Given the description of an element on the screen output the (x, y) to click on. 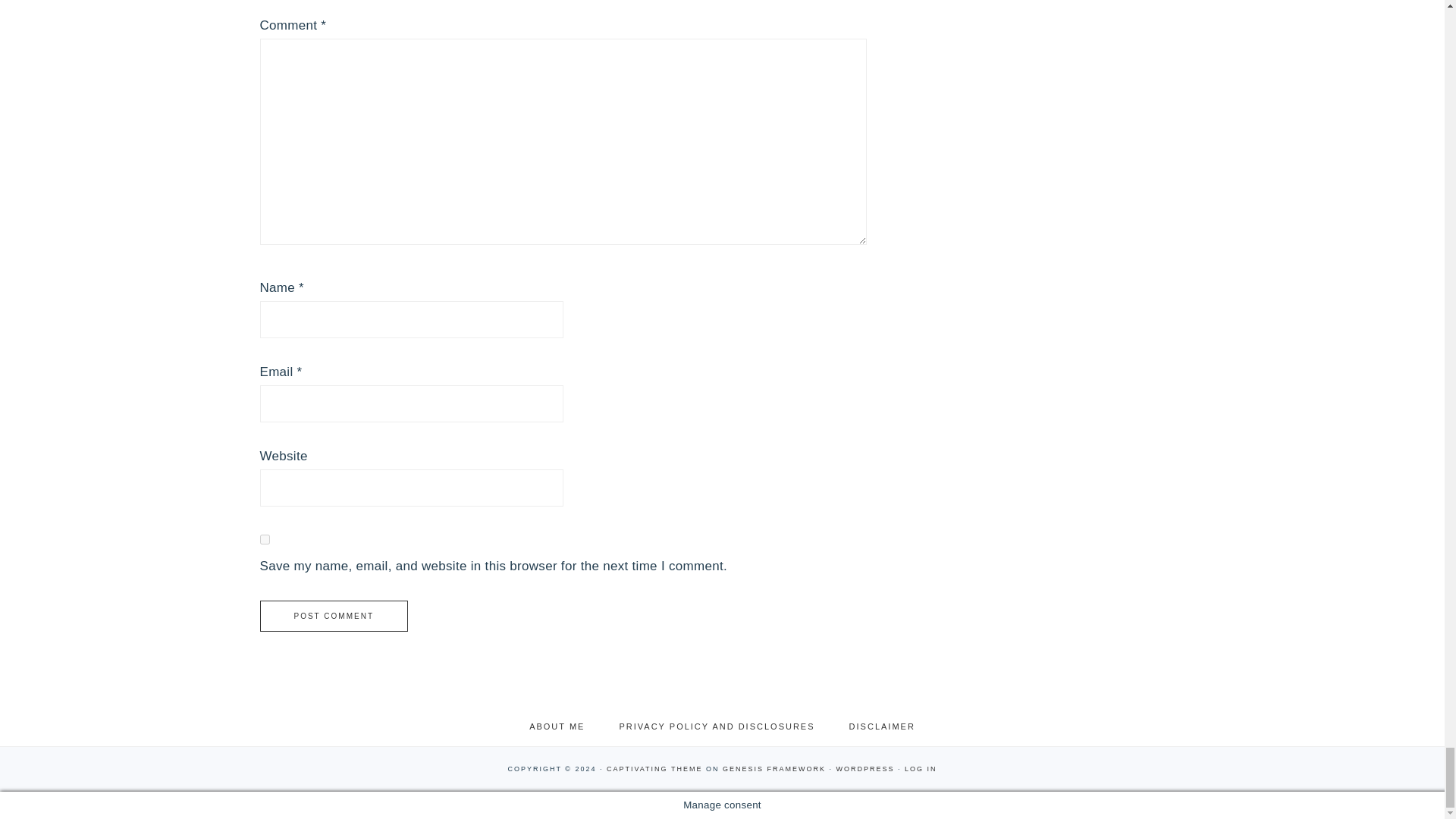
Post Comment (333, 615)
yes (264, 539)
